Given the description of an element on the screen output the (x, y) to click on. 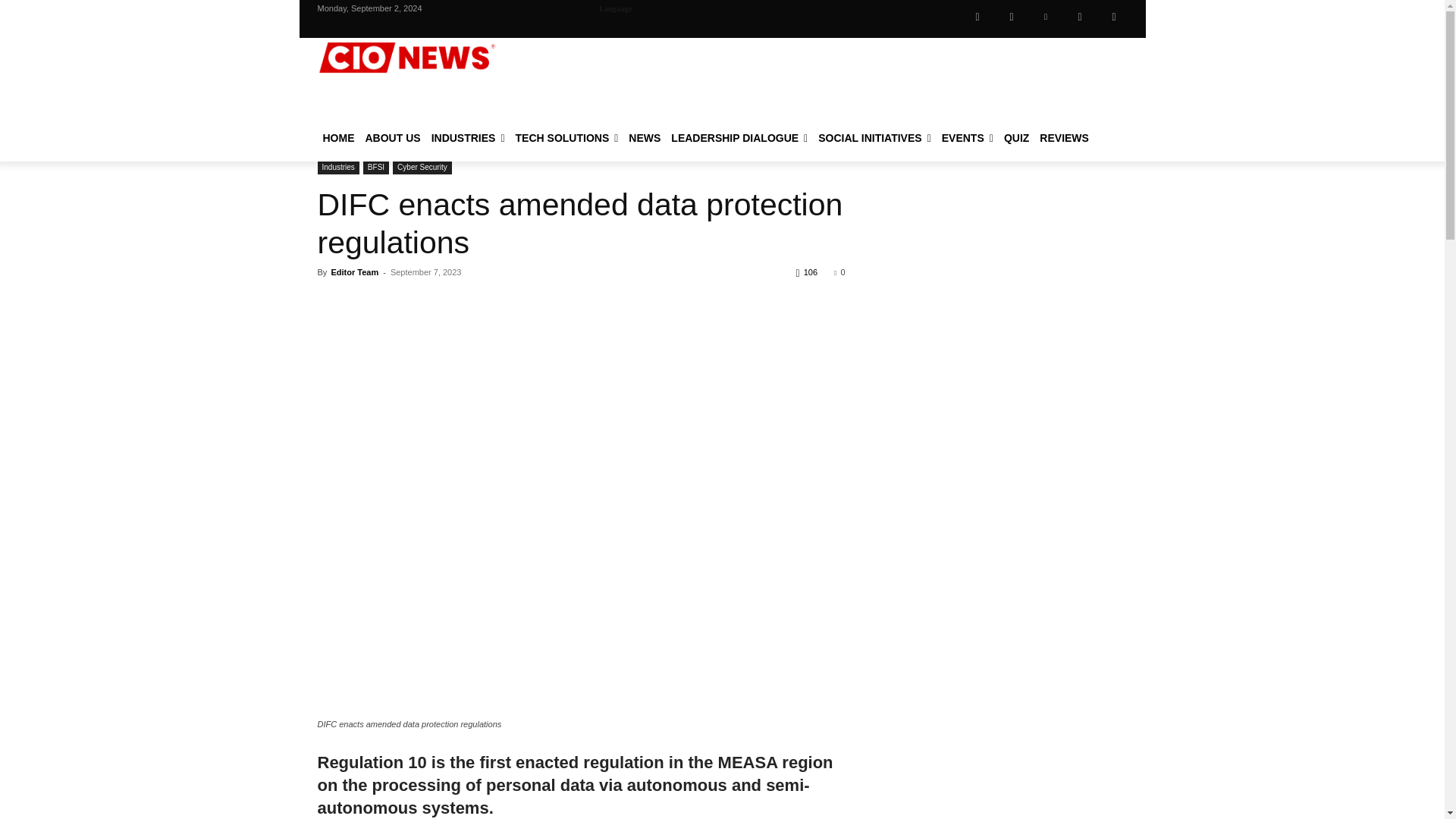
Linkedin (1045, 17)
Instagram (1011, 17)
Facebook (976, 17)
Twitter (1079, 17)
